Given the description of an element on the screen output the (x, y) to click on. 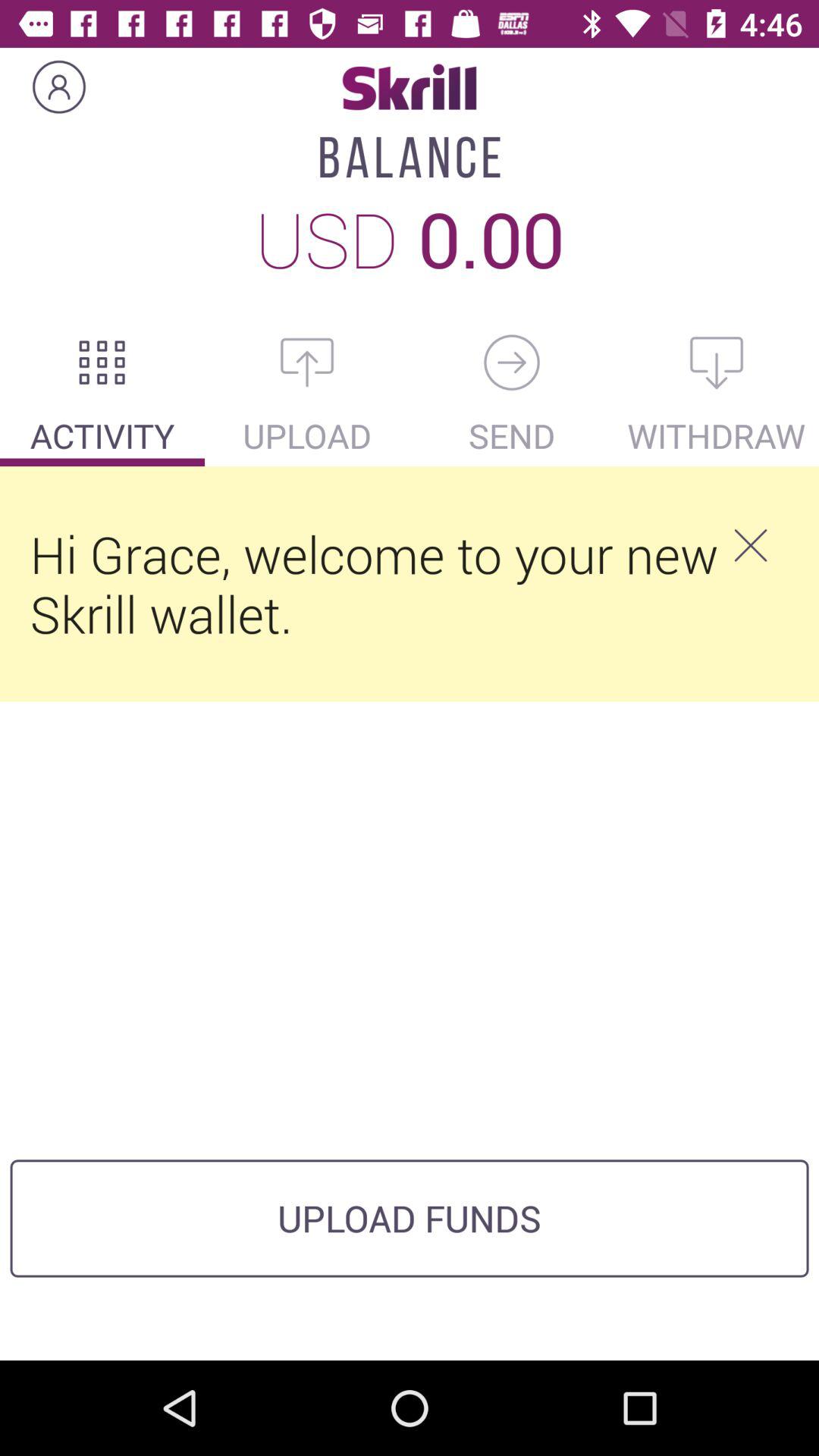
withdraw option (716, 362)
